Given the description of an element on the screen output the (x, y) to click on. 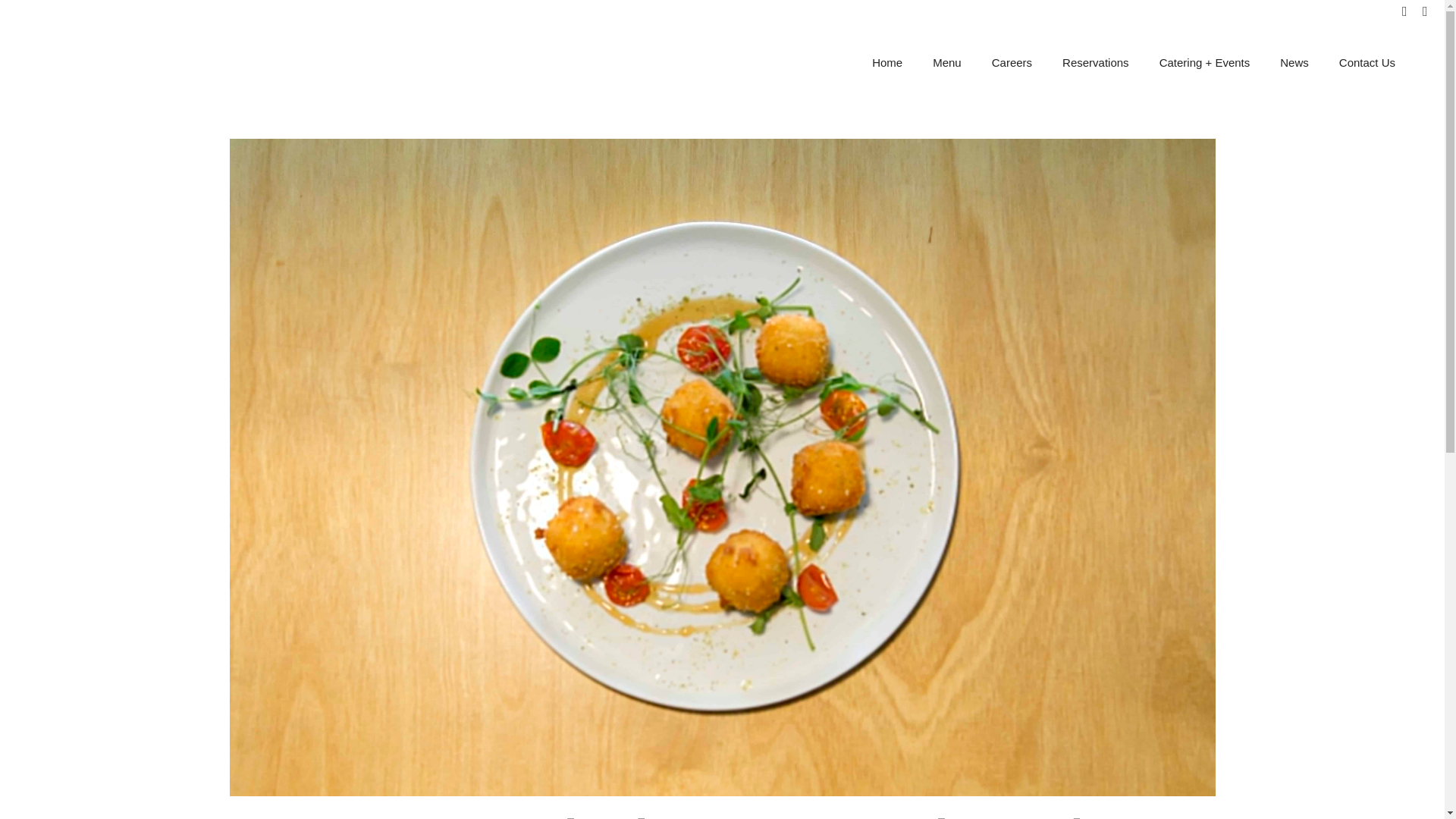
Careers (1011, 62)
Contact Us (1366, 62)
Reservations (1095, 62)
